Given the description of an element on the screen output the (x, y) to click on. 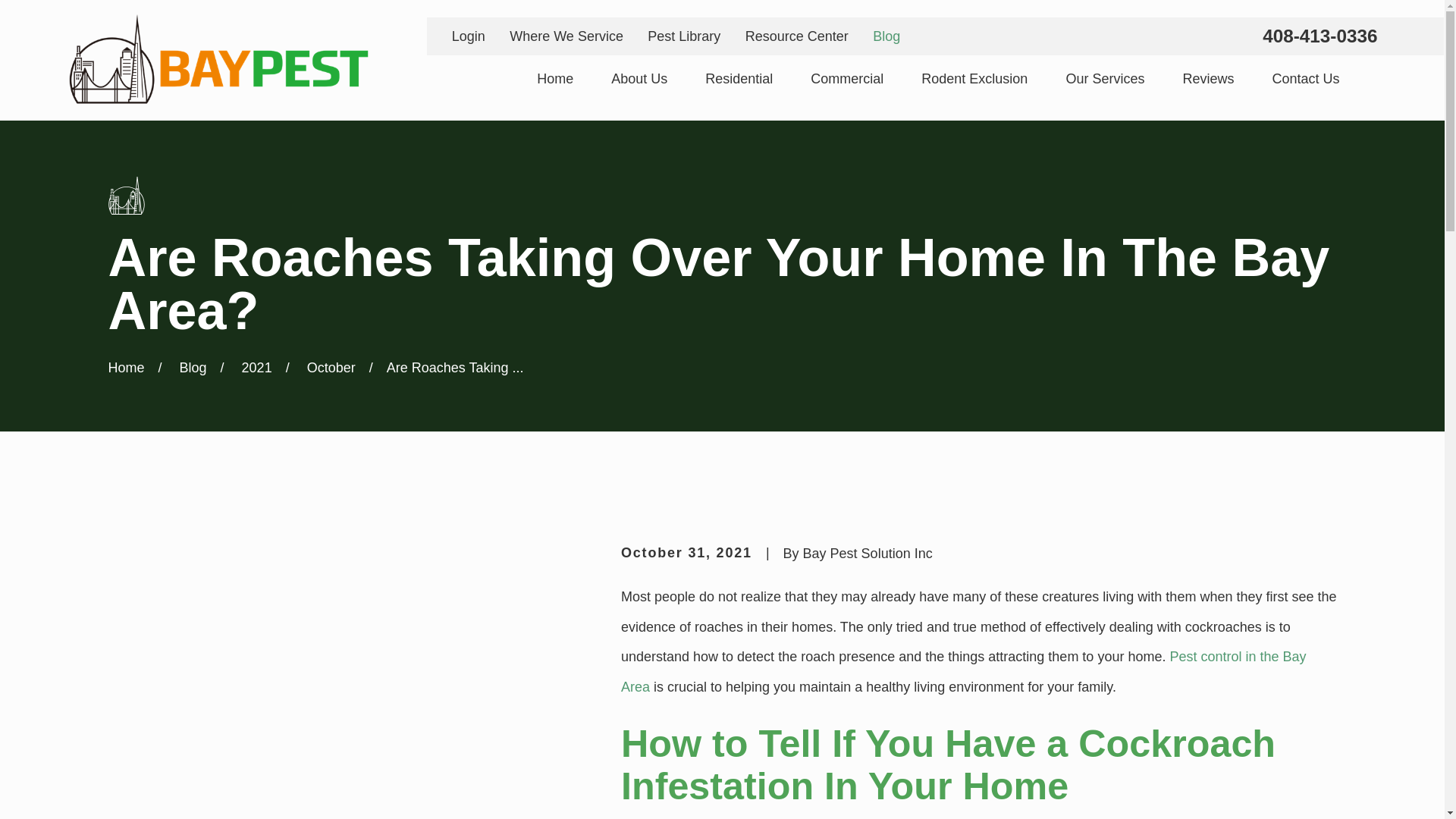
Contact Us (1305, 78)
Rodent Exclusion (974, 78)
Blog (885, 36)
About Us (638, 78)
Commercial (846, 78)
Pest Library (683, 36)
Login (467, 36)
Resource Center (796, 36)
Where We Service (566, 36)
Residential (738, 78)
Home (217, 60)
Go Home (125, 367)
408-413-0336 (1319, 35)
Reviews (1207, 78)
Our Services (1104, 78)
